Given the description of an element on the screen output the (x, y) to click on. 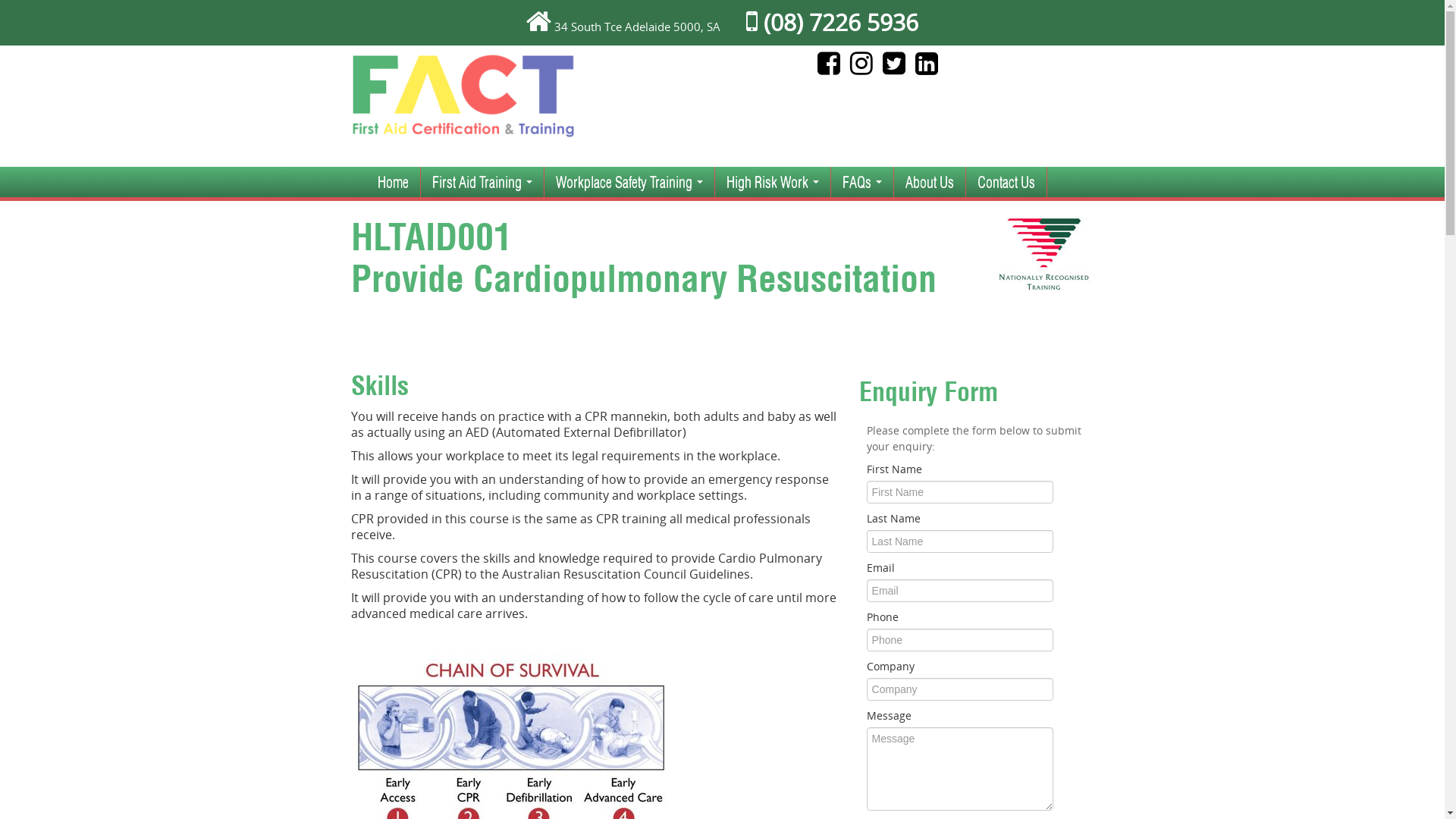
High Risk Work Element type: text (771, 181)
  Element type: text (864, 67)
FAQs Element type: text (862, 181)
About Us Element type: text (928, 181)
Workplace Safety Training Element type: text (629, 181)
 (08) 7226 5936 Element type: text (832, 21)
  Element type: text (832, 67)
Contact Us Element type: text (1006, 181)
First Aid Training Element type: text (481, 181)
Home Element type: text (392, 181)
34 South Tce Adelaide 5000, SA Element type: text (637, 26)
  Element type: text (897, 67)
  Element type: text (929, 67)
